Given the description of an element on the screen output the (x, y) to click on. 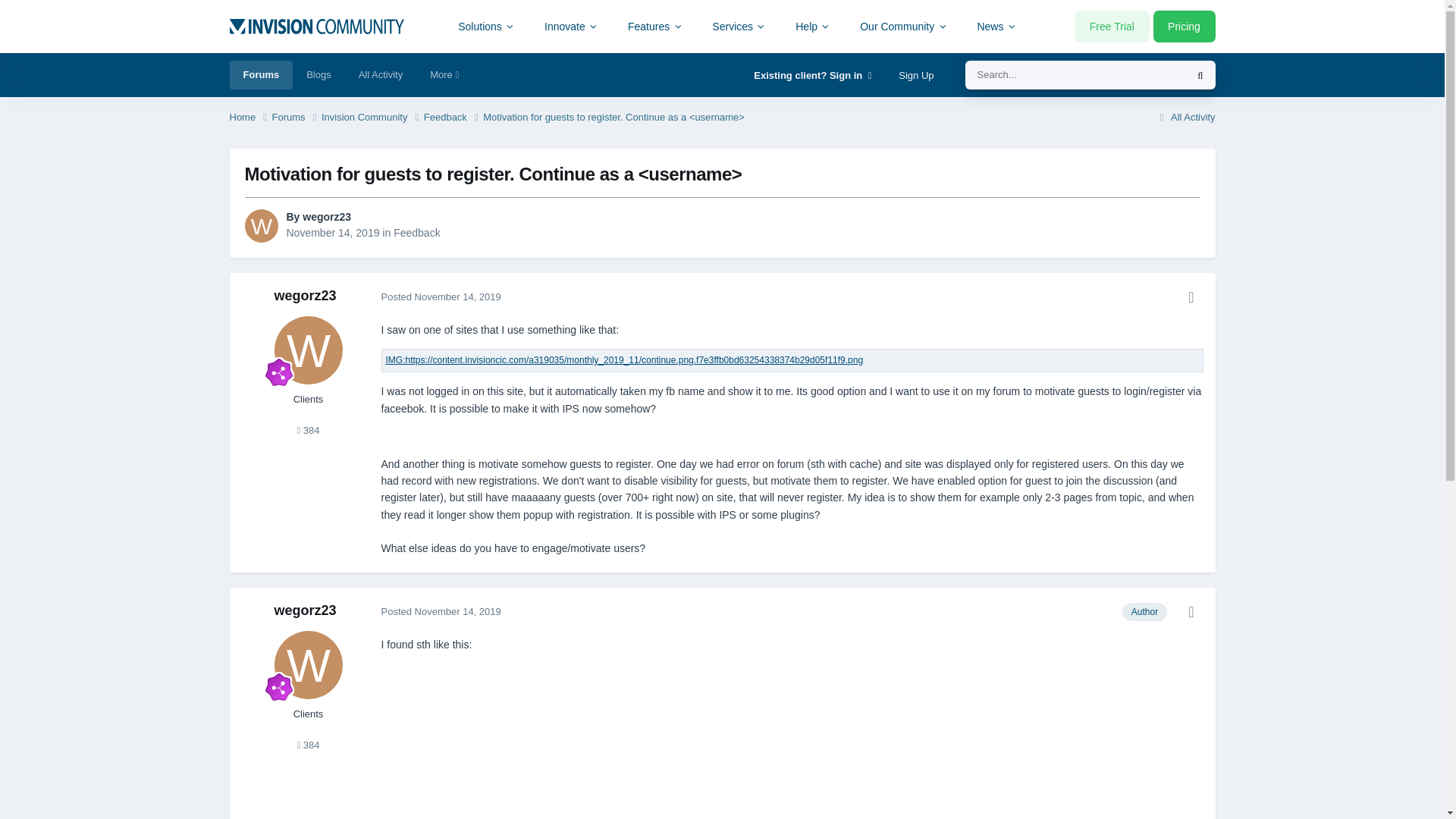
News (996, 26)
Home (249, 117)
384 posts (307, 430)
Innovate (570, 26)
Go to wegorz23's profile (308, 664)
Help (812, 26)
More options... (1190, 297)
Solutions (486, 26)
Go to wegorz23's profile (326, 216)
Go to wegorz23's profile (304, 295)
Features (654, 26)
384 posts (307, 745)
Services (738, 26)
Go to wegorz23's profile (304, 610)
More options... (1190, 611)
